Given the description of an element on the screen output the (x, y) to click on. 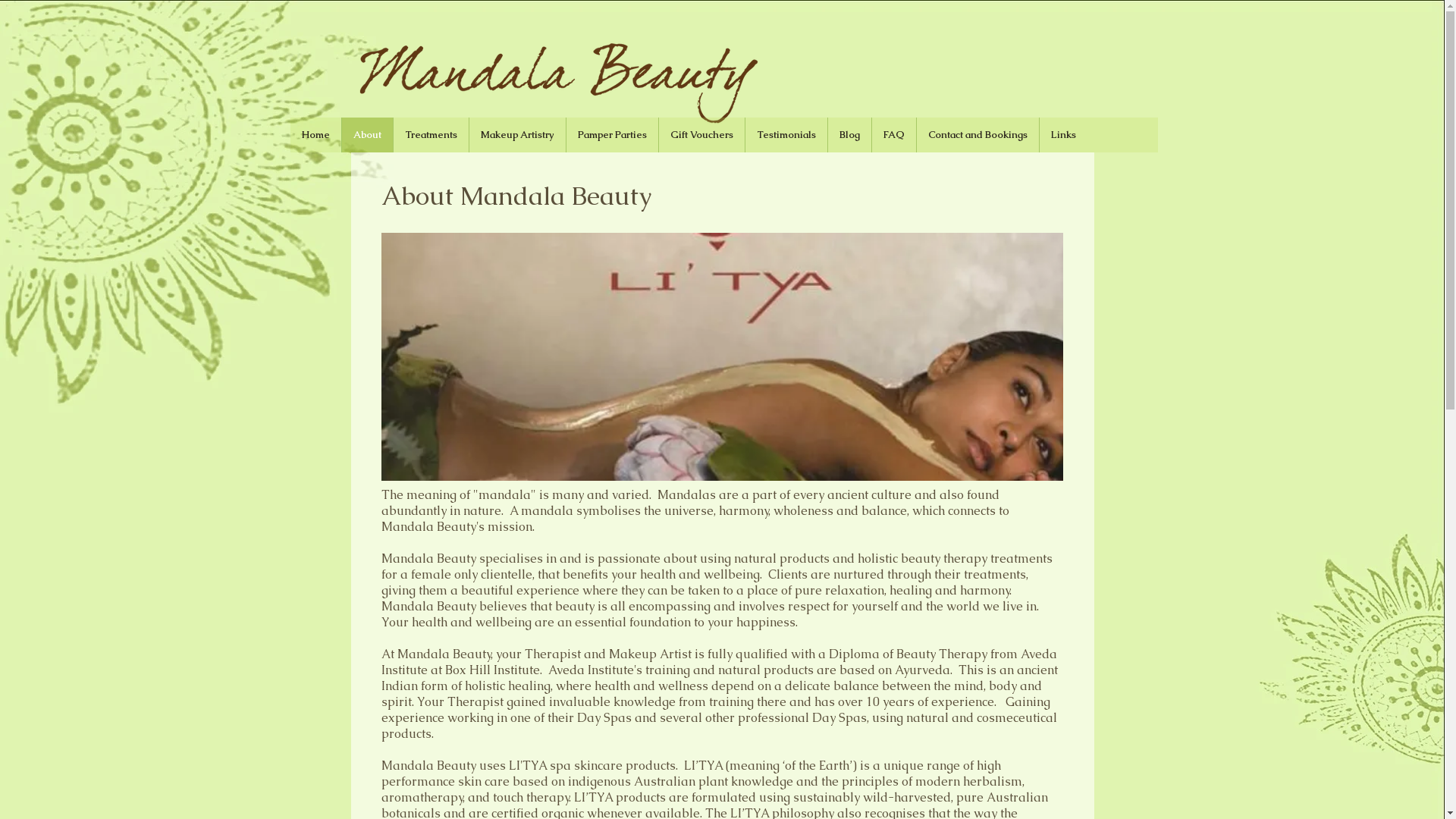
Makeup Artistry Element type: text (516, 134)
About Element type: text (366, 134)
Contact and Bookings Element type: text (977, 134)
Testimonials Element type: text (785, 134)
FAQ Element type: text (892, 134)
Yellow ochre body mud is soothing, grouding & stengthening Element type: hover (721, 356)
Home Element type: text (314, 134)
Blog Element type: text (848, 134)
Treatments Element type: text (430, 134)
Pamper Parties Element type: text (611, 134)
Links Element type: text (1062, 134)
Gift Vouchers Element type: text (701, 134)
